Given the description of an element on the screen output the (x, y) to click on. 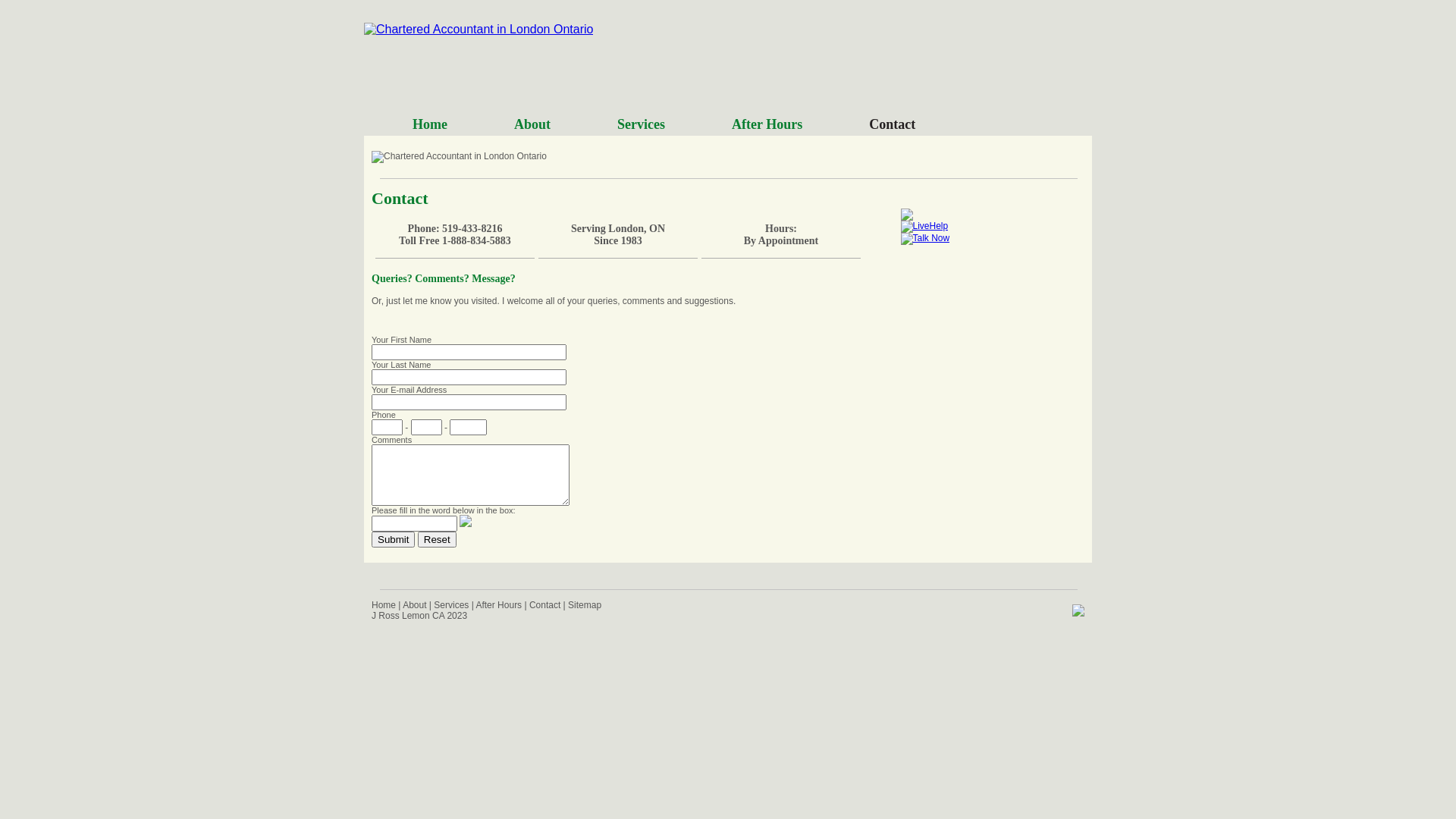
After Hours Element type: text (498, 604)
About Element type: text (531, 124)
Services Element type: text (640, 124)
Contact Element type: text (544, 604)
About Element type: text (414, 604)
After Hours Element type: text (766, 124)
Sitemap Element type: text (584, 604)
Home Element type: text (383, 604)
Submit Element type: text (392, 539)
Contact Element type: text (891, 124)
Home Element type: text (429, 124)
Services Element type: text (450, 604)
